Given the description of an element on the screen output the (x, y) to click on. 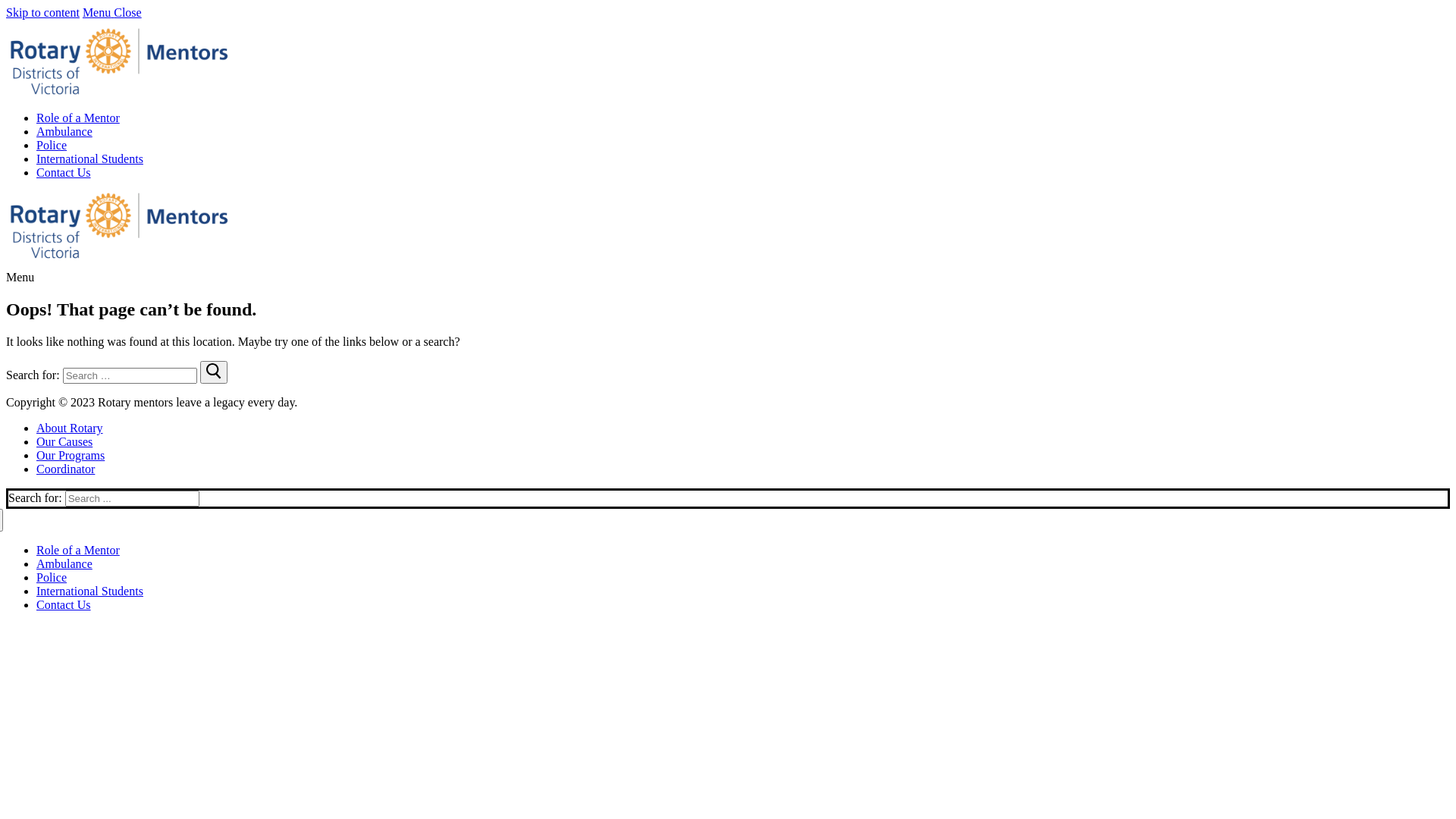
International Students Element type: text (89, 590)
About Rotary Element type: text (69, 427)
Search for: Element type: hover (132, 498)
Menu Close Element type: text (111, 12)
Search for: Element type: hover (129, 375)
Our Programs Element type: text (70, 454)
Menu Element type: text (20, 276)
Police Element type: text (51, 144)
Ambulance Element type: text (64, 563)
Skip to content Element type: text (42, 12)
International Students Element type: text (89, 158)
Contact Us Element type: text (63, 604)
Role of a Mentor Element type: text (77, 117)
Contact Us Element type: text (63, 172)
Role of a Mentor Element type: text (77, 549)
Police Element type: text (51, 577)
Our Causes Element type: text (64, 441)
Coordinator Element type: text (65, 468)
Ambulance Element type: text (64, 131)
